Given the description of an element on the screen output the (x, y) to click on. 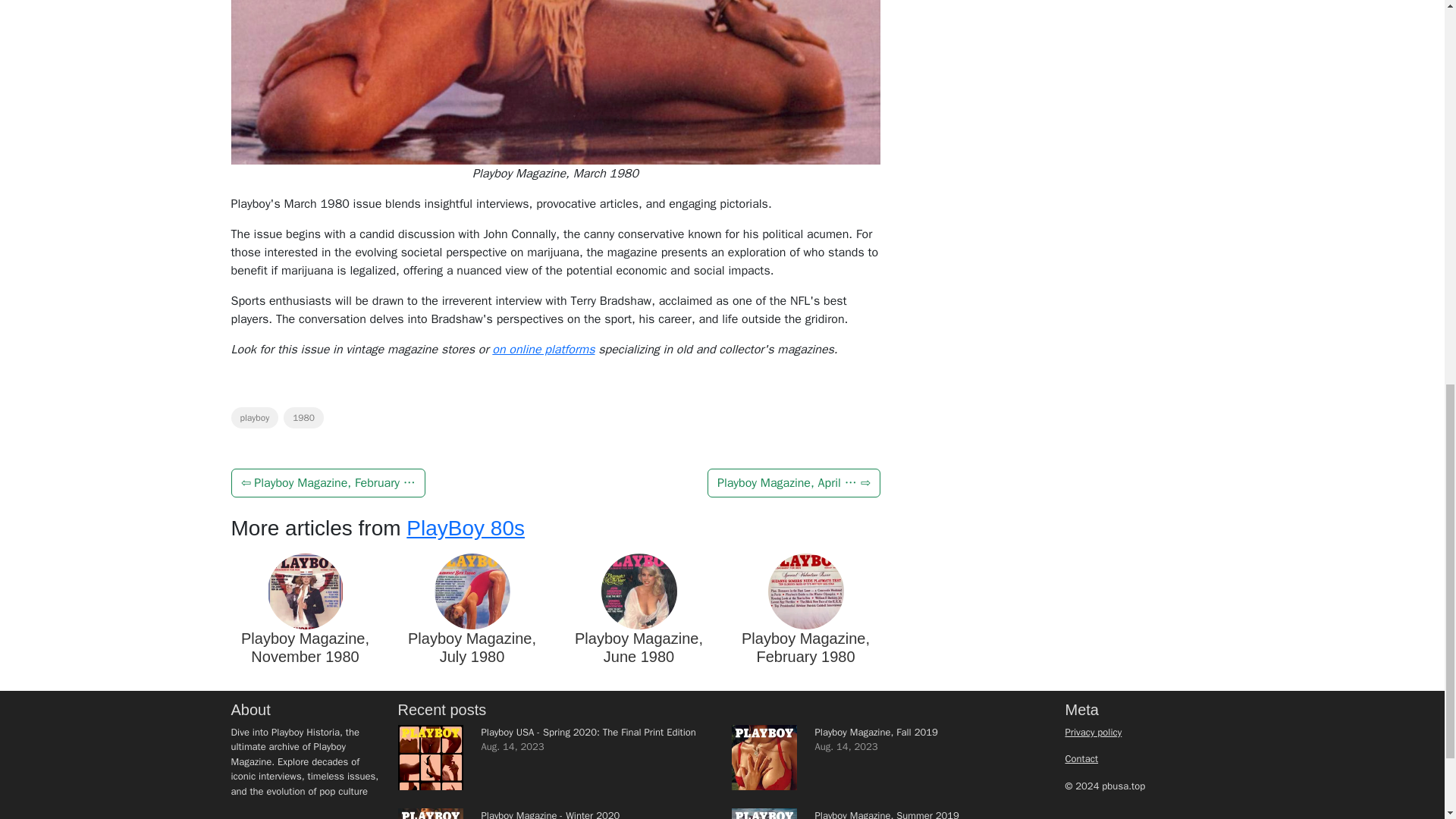
Playboy Magazine, June 1980 (639, 647)
Playboy Magazine, November 1980 (305, 647)
PlayBoy 80s (465, 527)
on online platforms (543, 349)
playboy (254, 417)
1980 (303, 417)
Playboy Magazine, February 1980 (805, 647)
Playboy Magazine, July 1980 (471, 647)
